Given the description of an element on the screen output the (x, y) to click on. 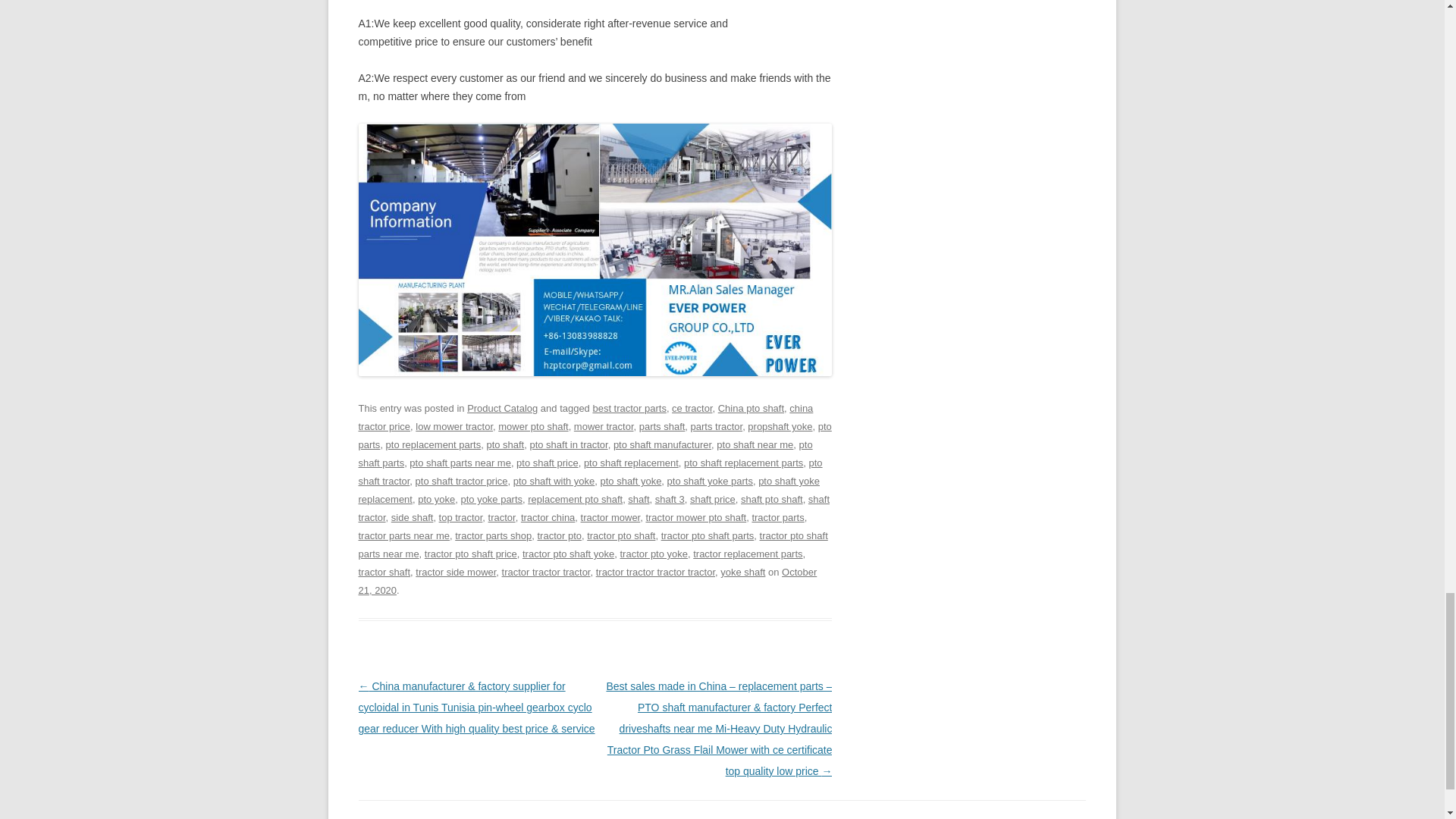
pto shaft parts (585, 453)
shaft (638, 499)
propshaft yoke (780, 426)
pto parts (594, 435)
pto shaft (505, 444)
10:46 am (587, 581)
mower pto shaft (532, 426)
shaft 3 (669, 499)
pto shaft yoke replacement (588, 490)
pto yoke (435, 499)
